Given the description of an element on the screen output the (x, y) to click on. 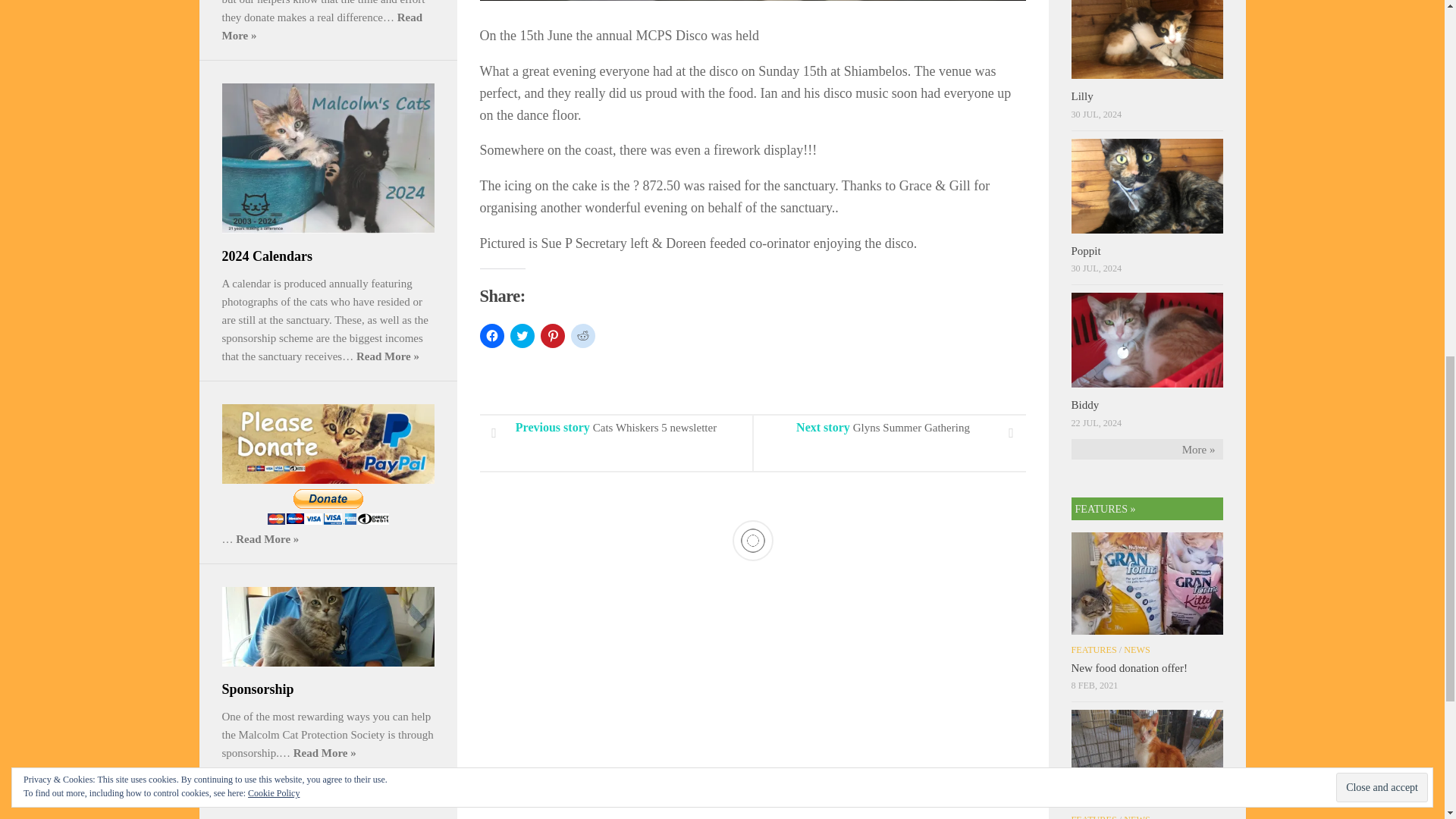
Click to share on Pinterest (552, 335)
Click to share on Twitter (521, 335)
Click to share on Reddit (582, 335)
Click to share on Facebook (491, 335)
